Given the description of an element on the screen output the (x, y) to click on. 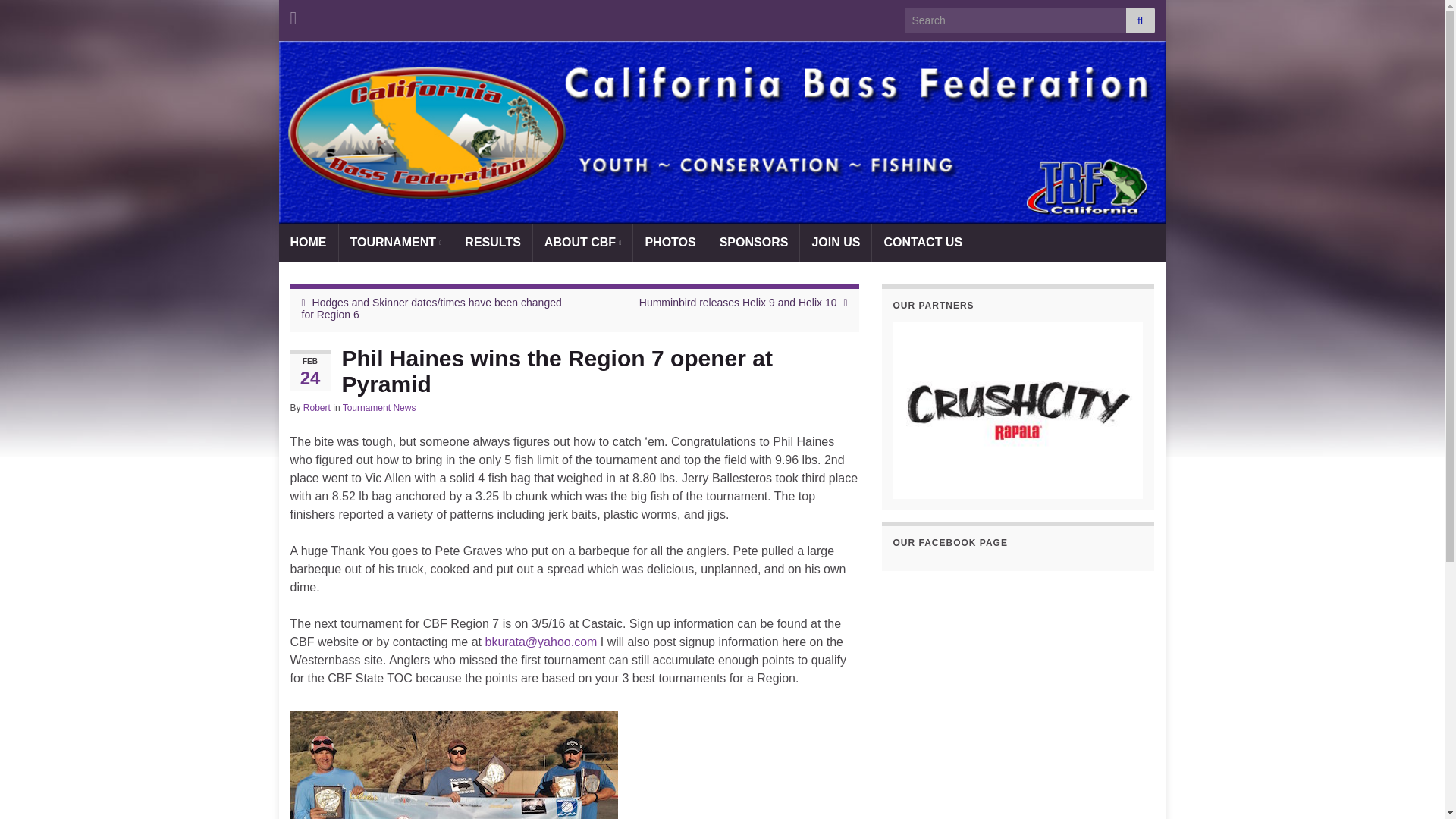
SPONSORS (753, 242)
PHOTOS (669, 242)
RESULTS (491, 242)
Robert (316, 407)
Tournament News (379, 407)
CONTACT US (923, 242)
TOURNAMENT (394, 242)
Humminbird releases Helix 9 and Helix 10 (738, 302)
ABOUT CBF (582, 242)
